Given the description of an element on the screen output the (x, y) to click on. 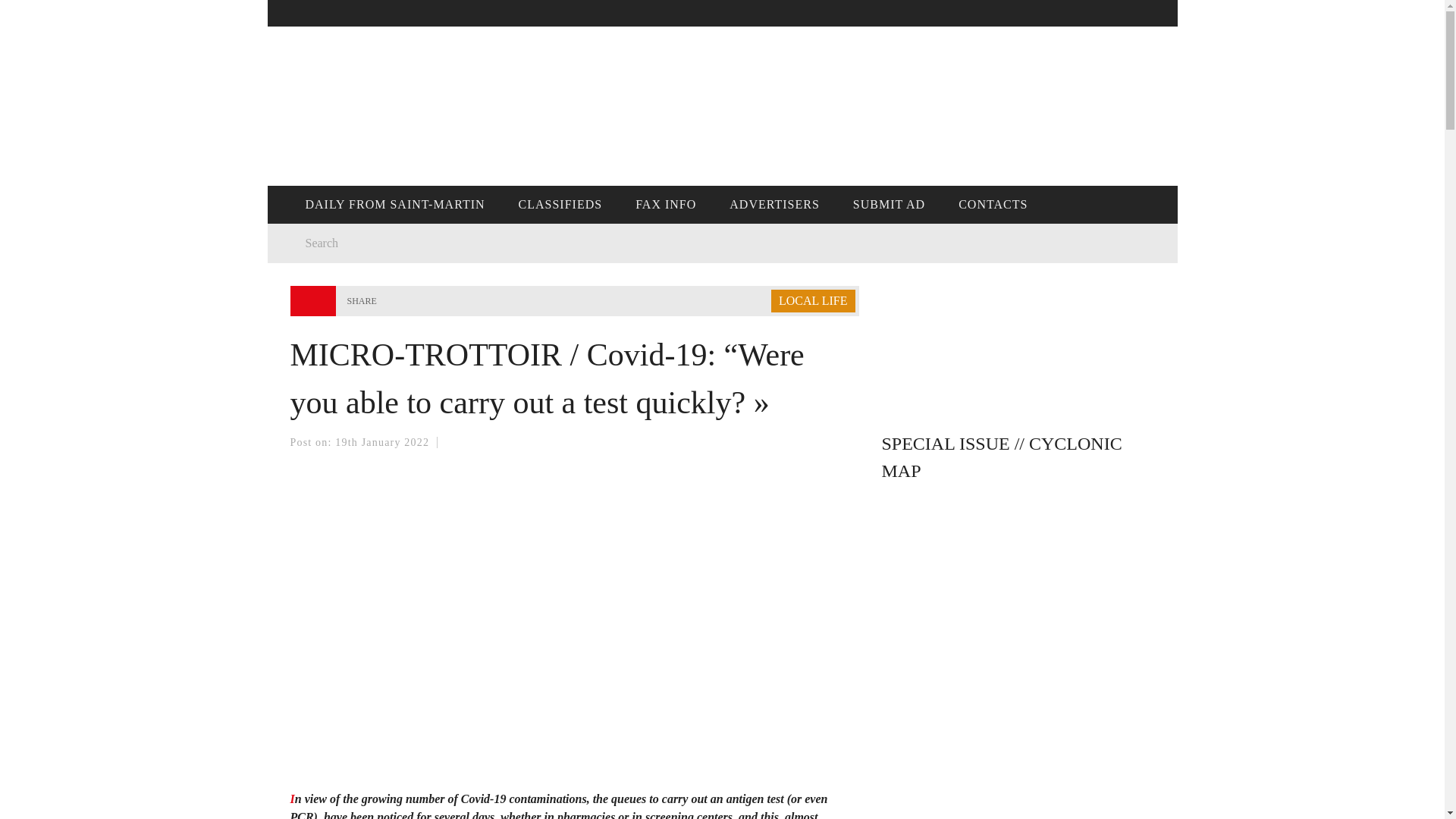
FAX INFO (665, 204)
Search (494, 242)
DAILY FROM SAINT-MARTIN (394, 204)
CLASSIFIEDS (560, 204)
ADVERTISERS (774, 204)
